Given the description of an element on the screen output the (x, y) to click on. 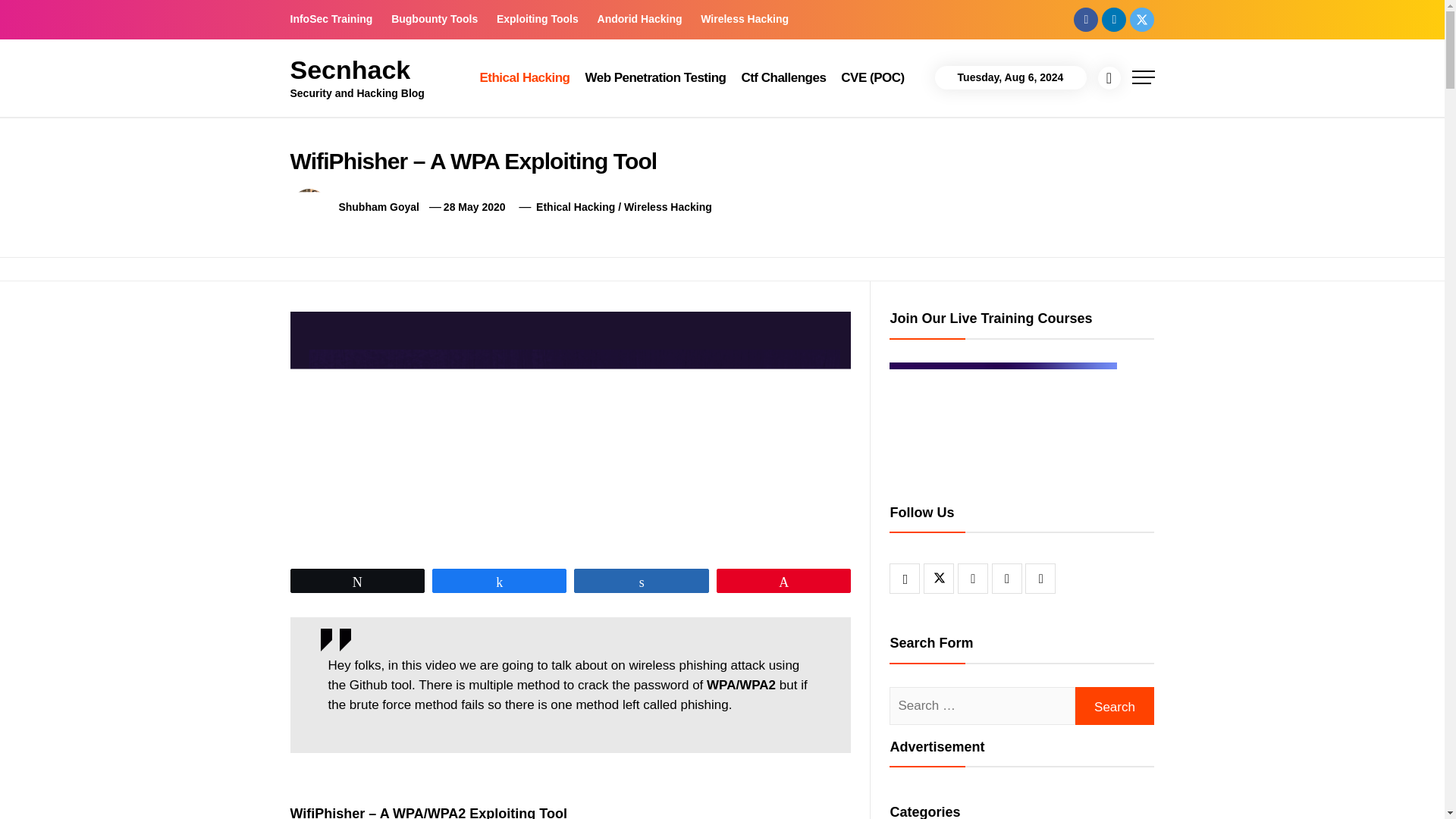
Search (1114, 705)
Ethical Hacking (523, 77)
Search (1114, 705)
Ethical Hacking (574, 205)
Exploiting Tools (537, 19)
Bugbounty Tools (434, 19)
Twitter (1141, 18)
InfoSec Training (334, 19)
Shubham Goyal (378, 205)
facebook (1085, 18)
28 May 2020 (474, 205)
Ctf Challenges (782, 77)
Wireless Hacking (744, 19)
Linkedin (1113, 18)
Secnhack (349, 69)
